Given the description of an element on the screen output the (x, y) to click on. 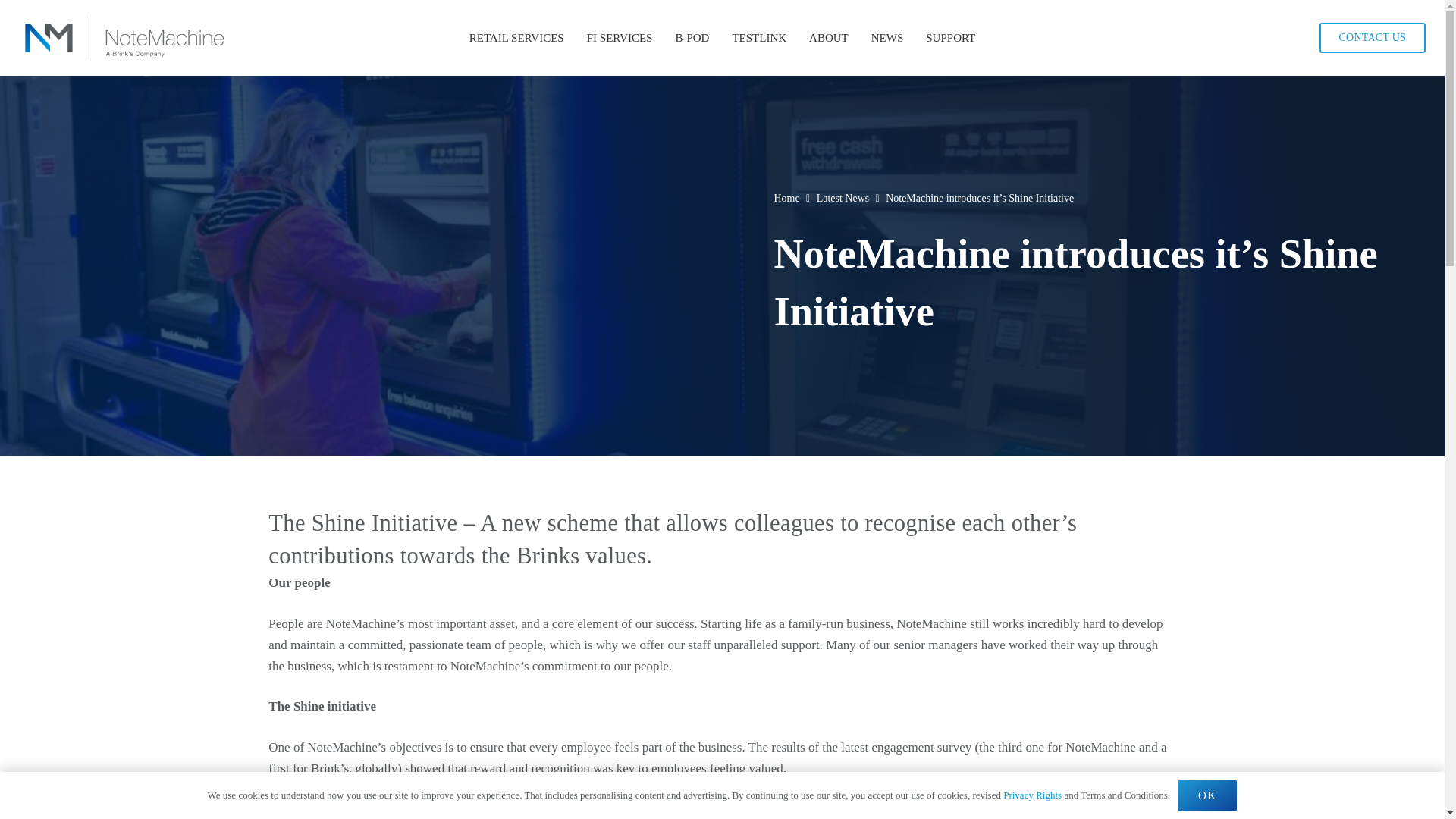
RETAIL SERVICES (516, 38)
SUPPORT (950, 38)
NEWS (887, 38)
B-POD (691, 38)
TESTLINK (758, 38)
Home (786, 197)
FI SERVICES (619, 38)
CONTACT US (1372, 37)
ABOUT (828, 38)
Latest News (842, 197)
